Given the description of an element on the screen output the (x, y) to click on. 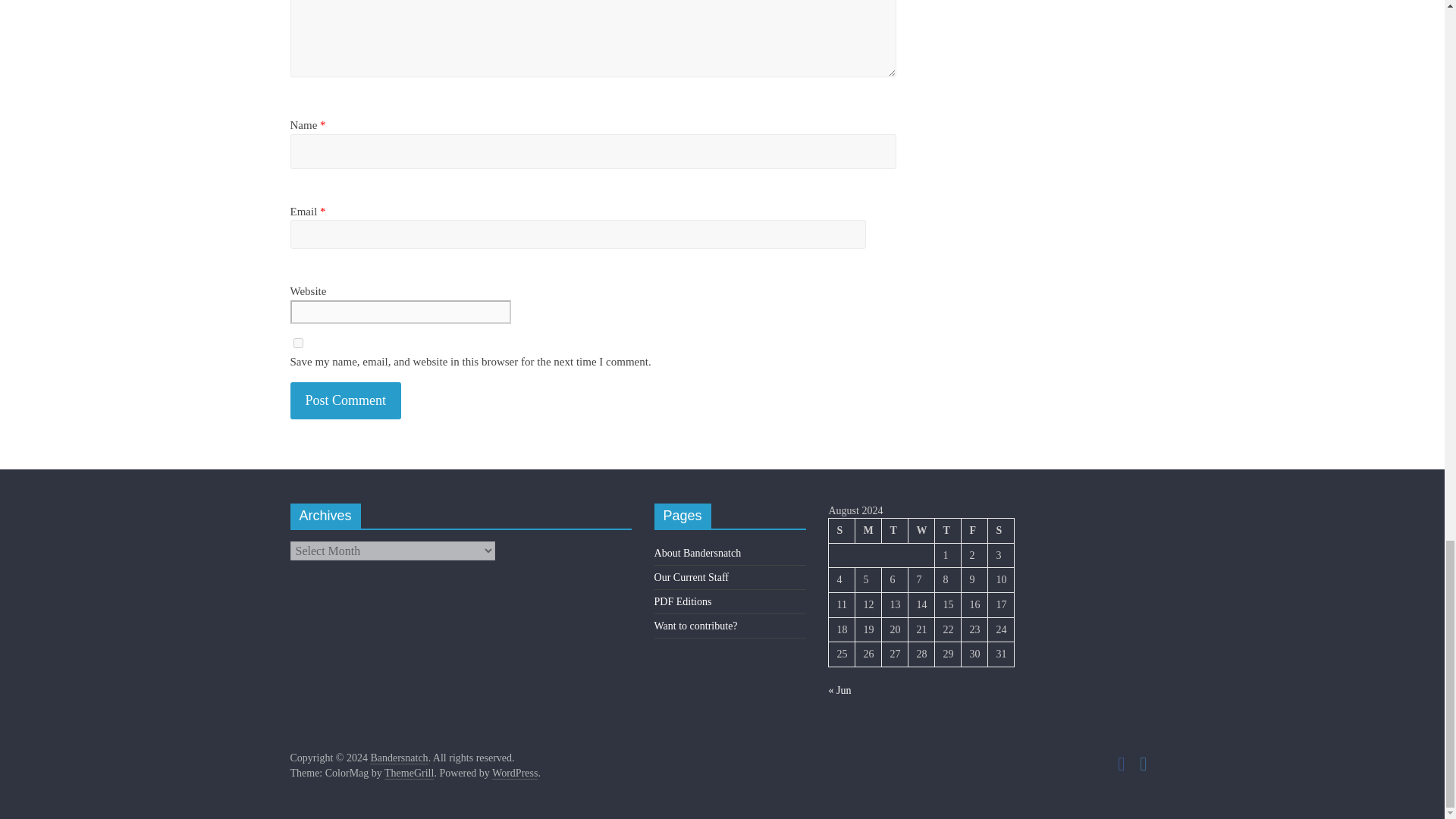
Post Comment (345, 400)
yes (297, 343)
Post Comment (345, 400)
